Given the description of an element on the screen output the (x, y) to click on. 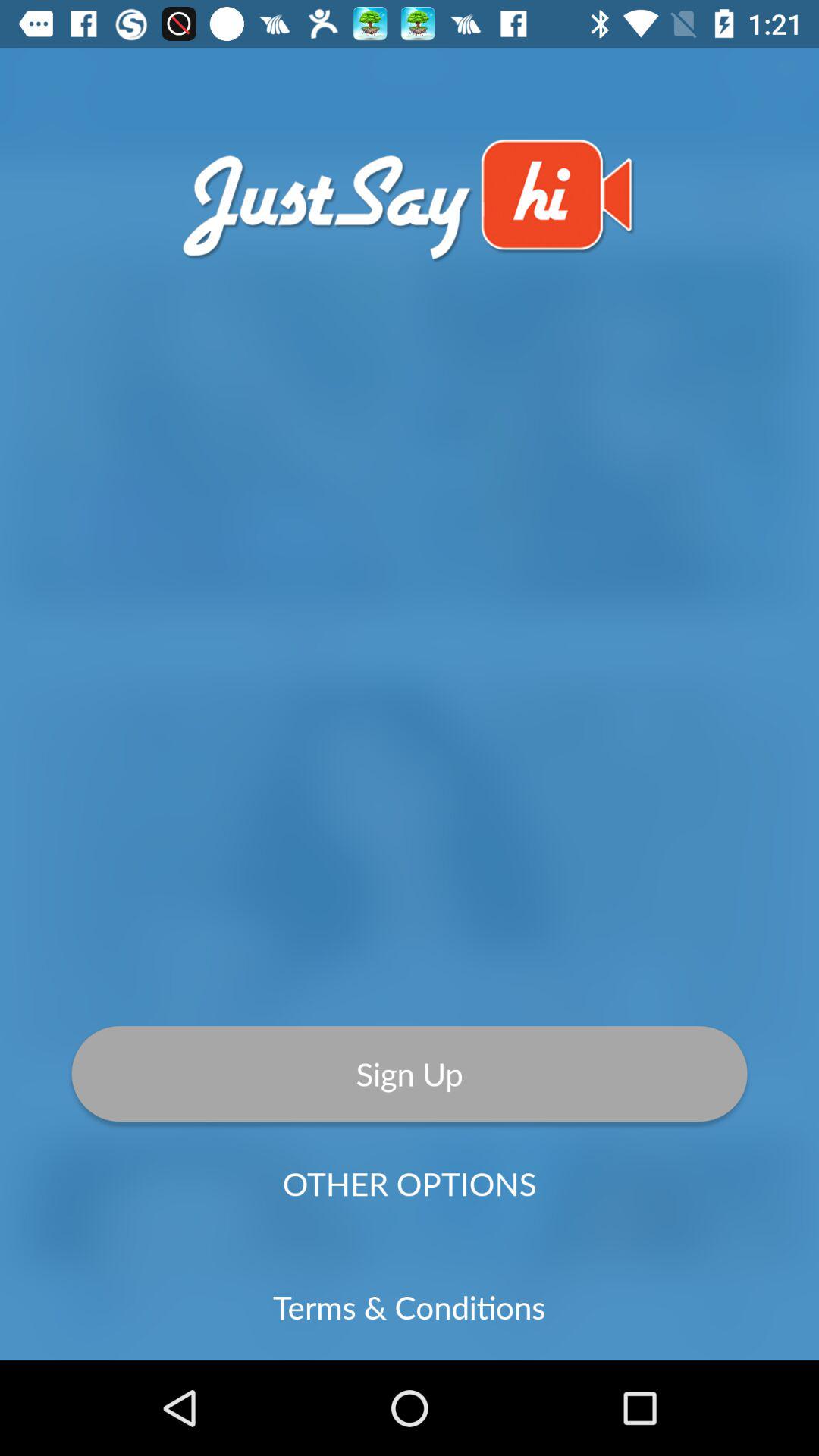
select sign up (409, 1073)
